Given the description of an element on the screen output the (x, y) to click on. 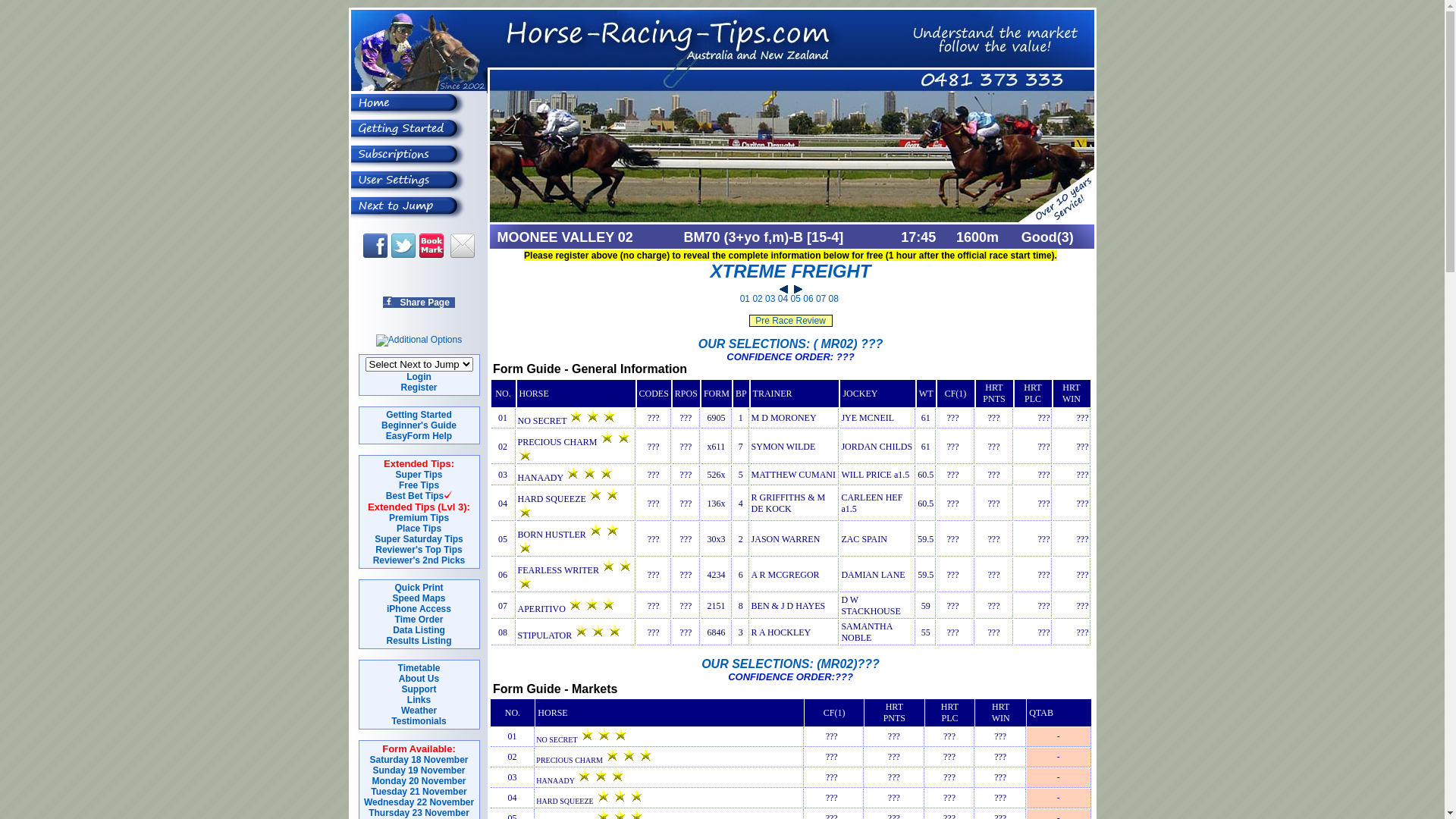
Monday 20 November Element type: text (418, 780)
Wednesday 22 November Element type: text (418, 802)
Reviewer's Top Tips Element type: text (418, 549)
Tuesday 21 November Element type: text (418, 791)
  Share Page   Element type: text (418, 302)
06 Element type: text (807, 298)
Horse-Racing-Tips.com.au on Facebook Element type: hover (375, 245)
Testimonials Element type: text (418, 720)
Free Tips Element type: text (418, 485)
Register Element type: text (418, 387)
Results Listing Element type: text (418, 640)
Getting Started Element type: text (418, 414)
Pre Race Review Element type: text (790, 320)
Links Element type: text (418, 699)
EasyForm Help Element type: text (418, 435)
Sunday 19 November Element type: text (418, 770)
05 Element type: text (795, 298)
Best Bet Tips Element type: text (414, 495)
07 Element type: text (820, 298)
01 Element type: text (744, 298)
02 Element type: text (757, 298)
03 Element type: text (770, 298)
Data Listing Element type: text (418, 629)
Speed Maps Element type: text (418, 598)
Bookmark Horse-Racing-Tips.com.au Element type: hover (431, 245)
Place Tips Element type: text (418, 528)
Super Tips Element type: text (418, 474)
Reviewer's 2nd Picks Element type: text (419, 560)
04 Element type: text (782, 298)
About Us Element type: text (418, 678)
Quick Print Element type: text (418, 587)
Beginner's Guide Element type: text (418, 425)
Weather Element type: text (418, 710)
Support Element type: text (418, 689)
iPhone Access Element type: text (418, 608)
Premium Tips Element type: text (418, 517)
Thursday 23 November Element type: text (418, 812)
Timetable Element type: text (419, 667)
Super Saturday Tips Element type: text (418, 538)
Horse-Racing-Tips.com.au on Twitter Element type: hover (403, 245)
Time Order Element type: text (419, 619)
08 Element type: text (833, 298)
Saturday 18 November Element type: text (418, 759)
Login Element type: text (418, 376)
Email Horse-Racing-Tips.com.au Element type: hover (462, 245)
